Given the description of an element on the screen output the (x, y) to click on. 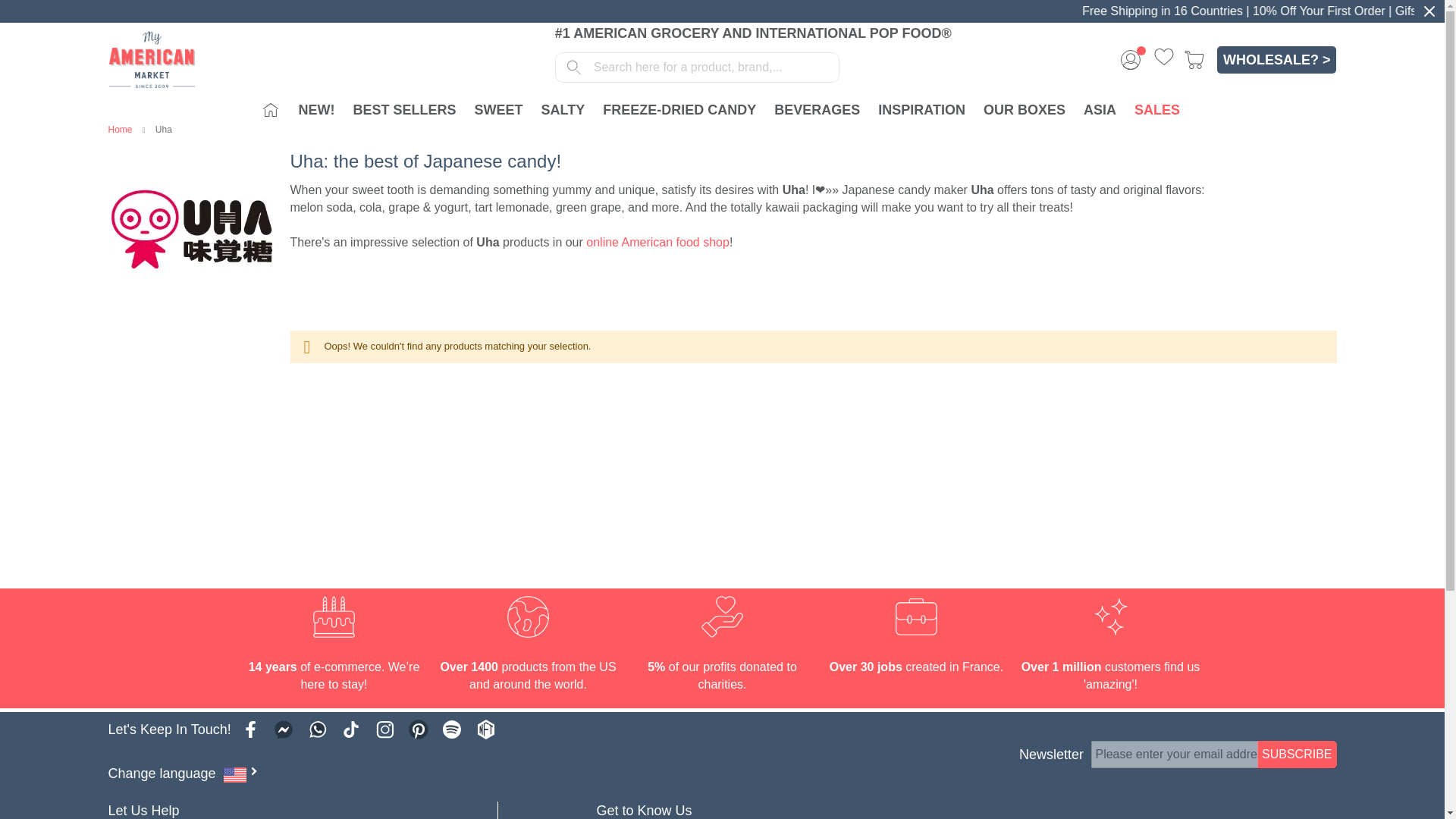
Uha (191, 231)
Home (270, 109)
BEVERAGES (817, 109)
SALTY (563, 109)
Search (574, 67)
INSPIRATION (921, 109)
Sign In (1130, 60)
FREEZE-DRIED CANDY (679, 109)
BEST SELLERS (403, 109)
American Food pop food (151, 59)
ASIA (1099, 109)
NEW! (315, 109)
OUR BOXES (1024, 109)
SWEET (498, 109)
Go to Home Page (120, 129)
